Given the description of an element on the screen output the (x, y) to click on. 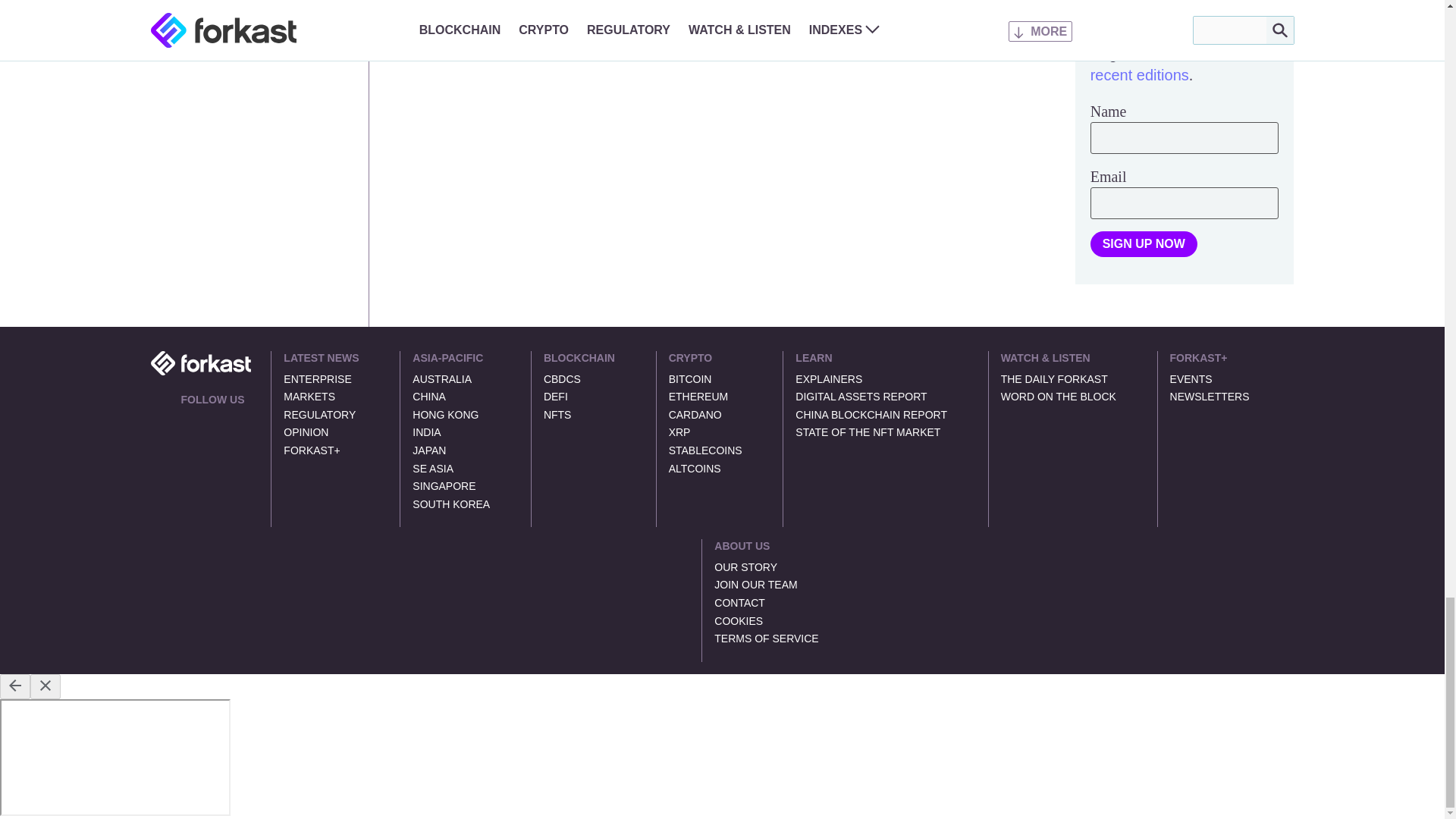
Sign up now (1143, 243)
Forkast's profile on LinkedIn (204, 419)
Forkast's profile on Twitter (186, 419)
Forkast's profile on Instagram (240, 419)
Forkast's profile on Facebook (222, 419)
